Given the description of an element on the screen output the (x, y) to click on. 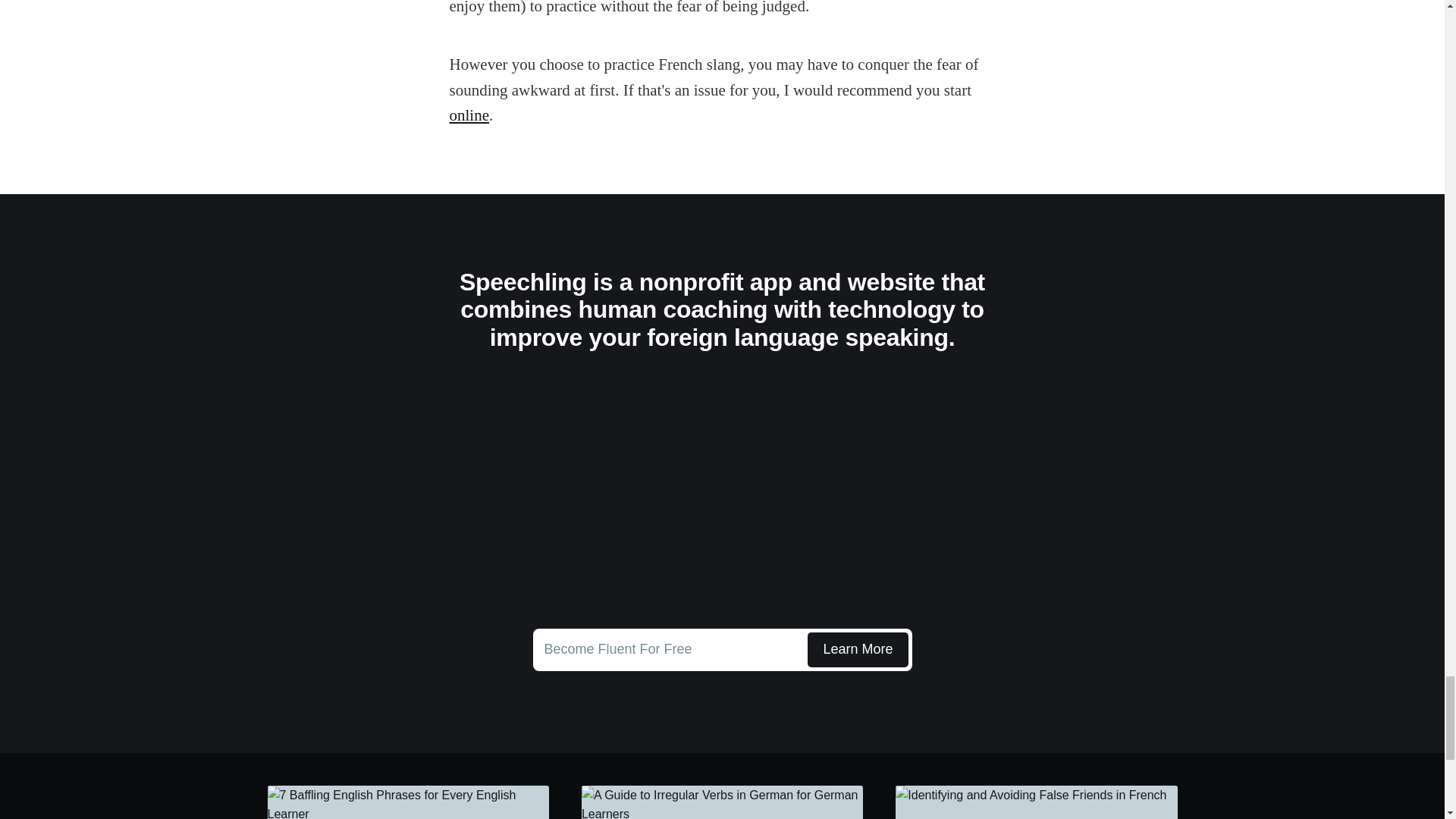
YouTube video player (721, 493)
online (468, 115)
